Given the description of an element on the screen output the (x, y) to click on. 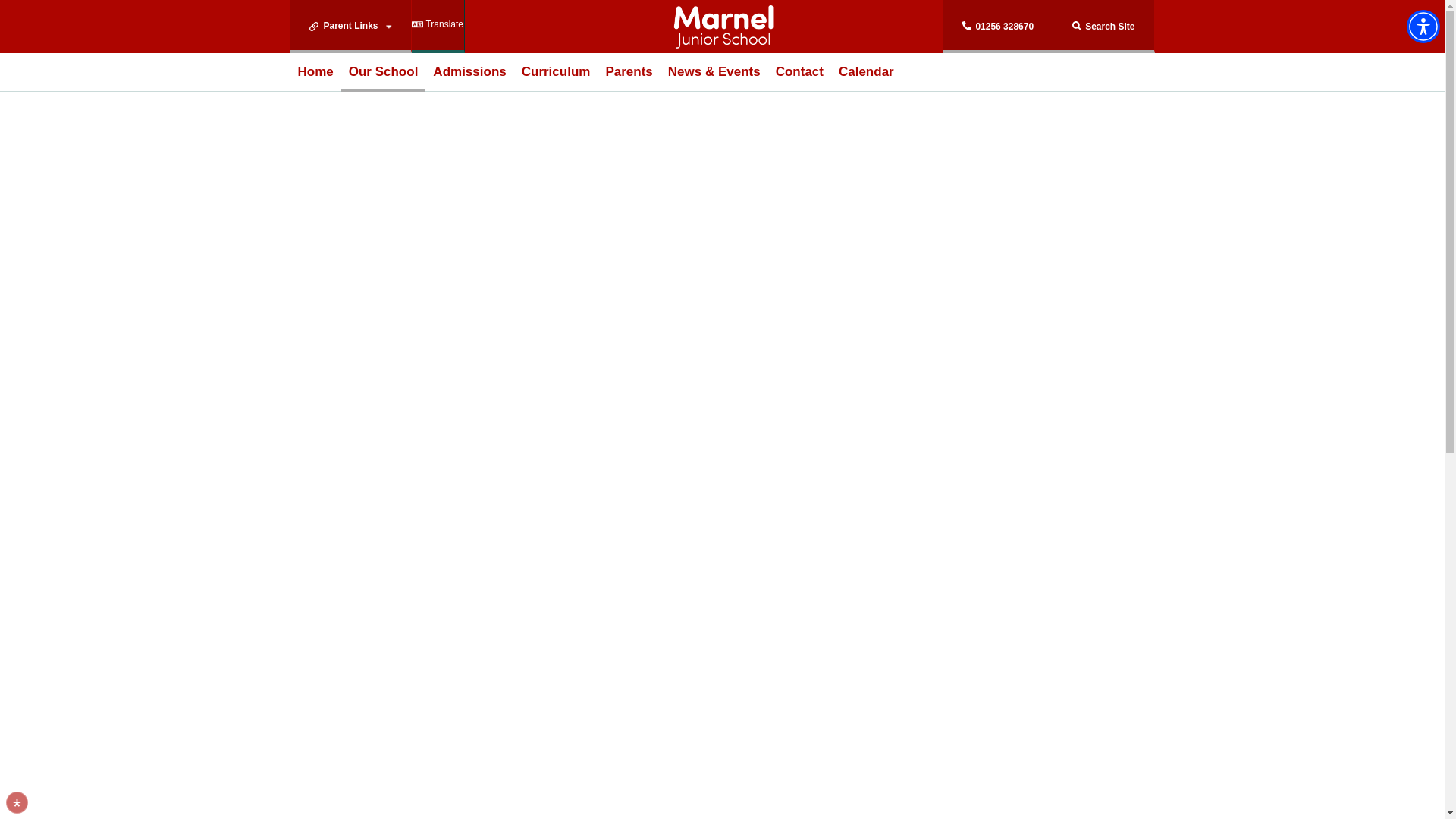
Accessibility Menu (1422, 26)
